Given the description of an element on the screen output the (x, y) to click on. 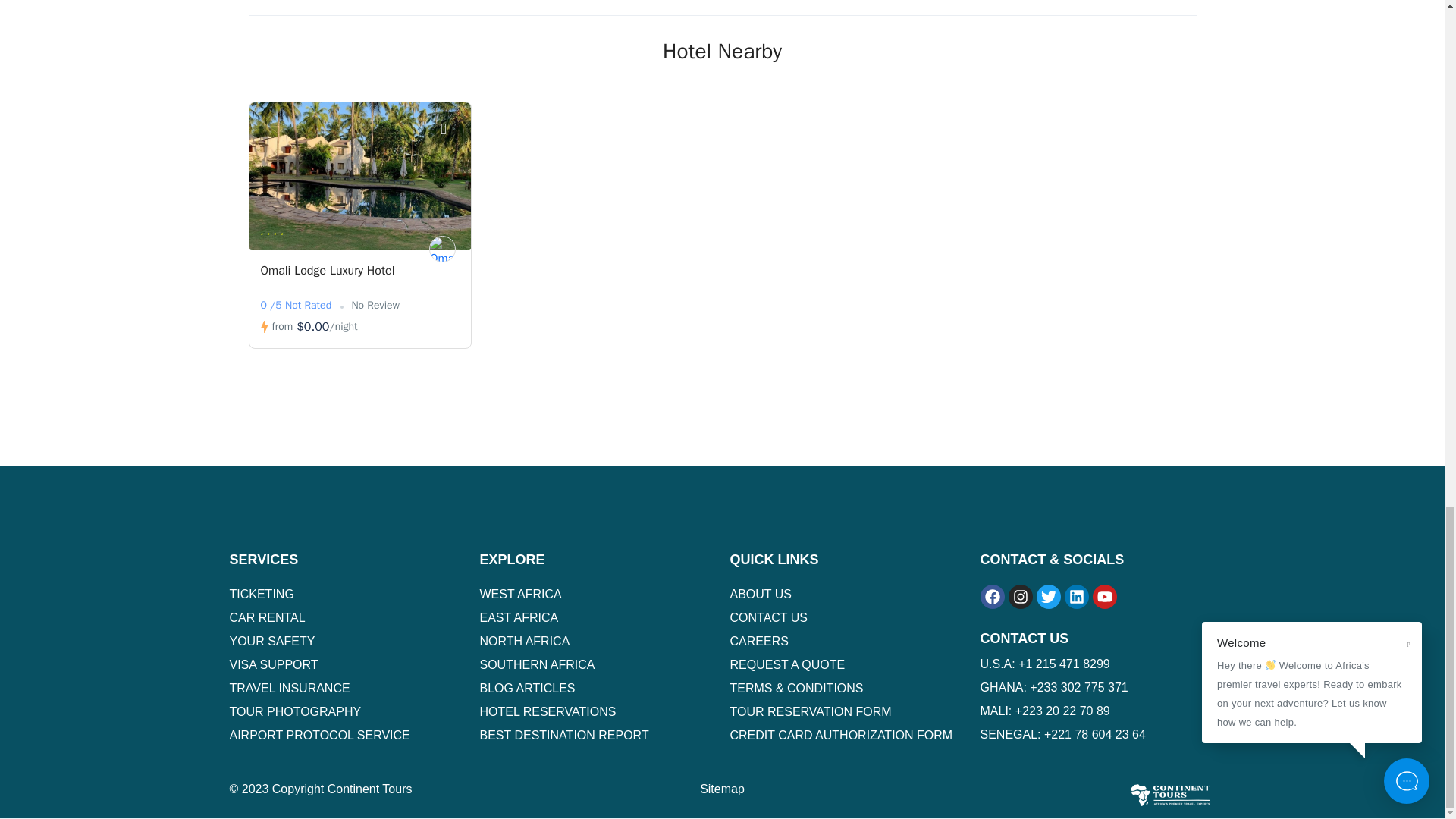
emmanuel (442, 248)
Add to wishlist (452, 129)
